Given the description of an element on the screen output the (x, y) to click on. 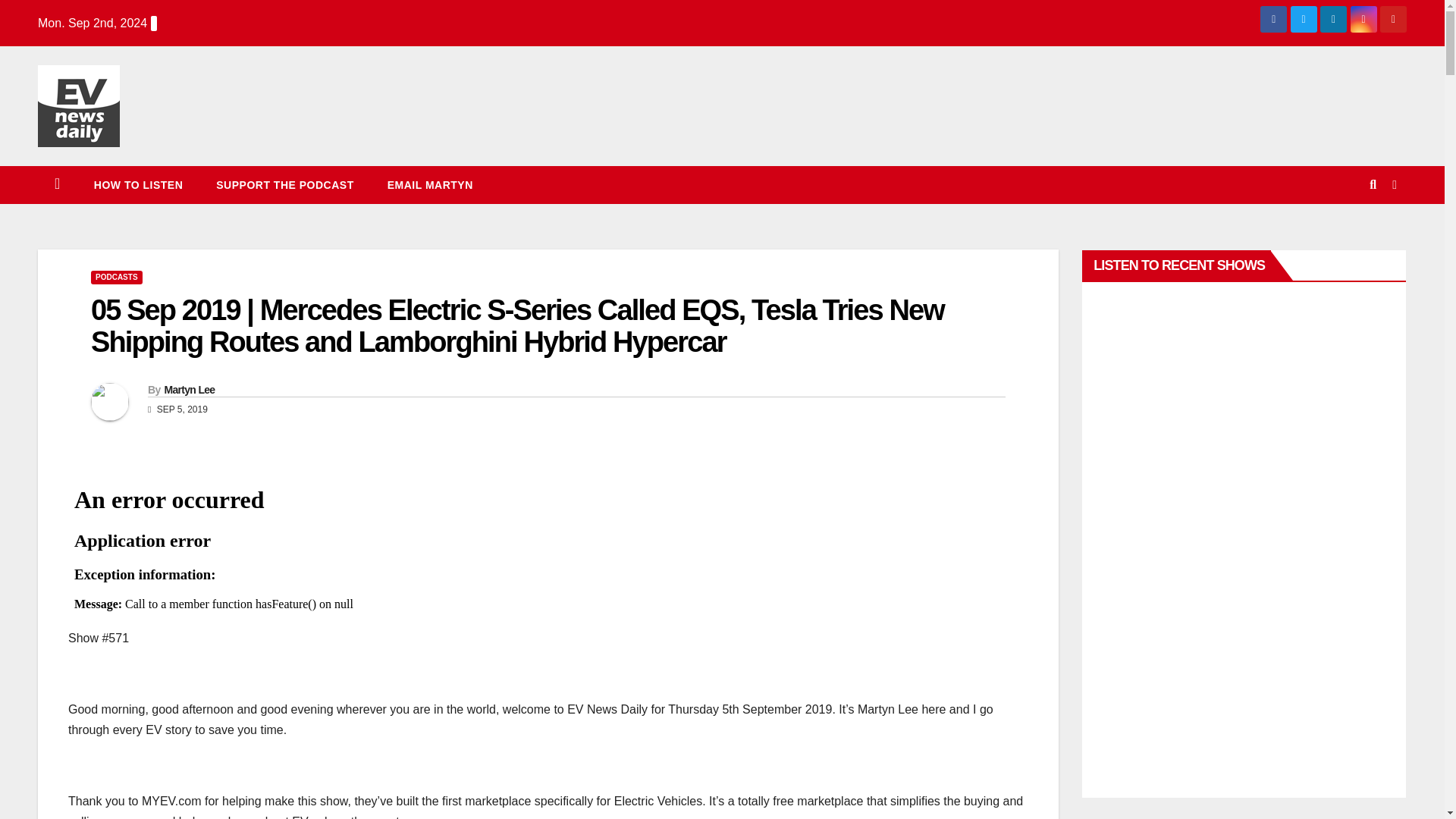
Martyn Lee (188, 389)
How To Listen (138, 184)
PODCASTS (116, 277)
Support The Podcast (284, 184)
SUPPORT THE PODCAST (284, 184)
EMAIL MARTYN (430, 184)
Email Martyn (430, 184)
HOW TO LISTEN (138, 184)
